Given the description of an element on the screen output the (x, y) to click on. 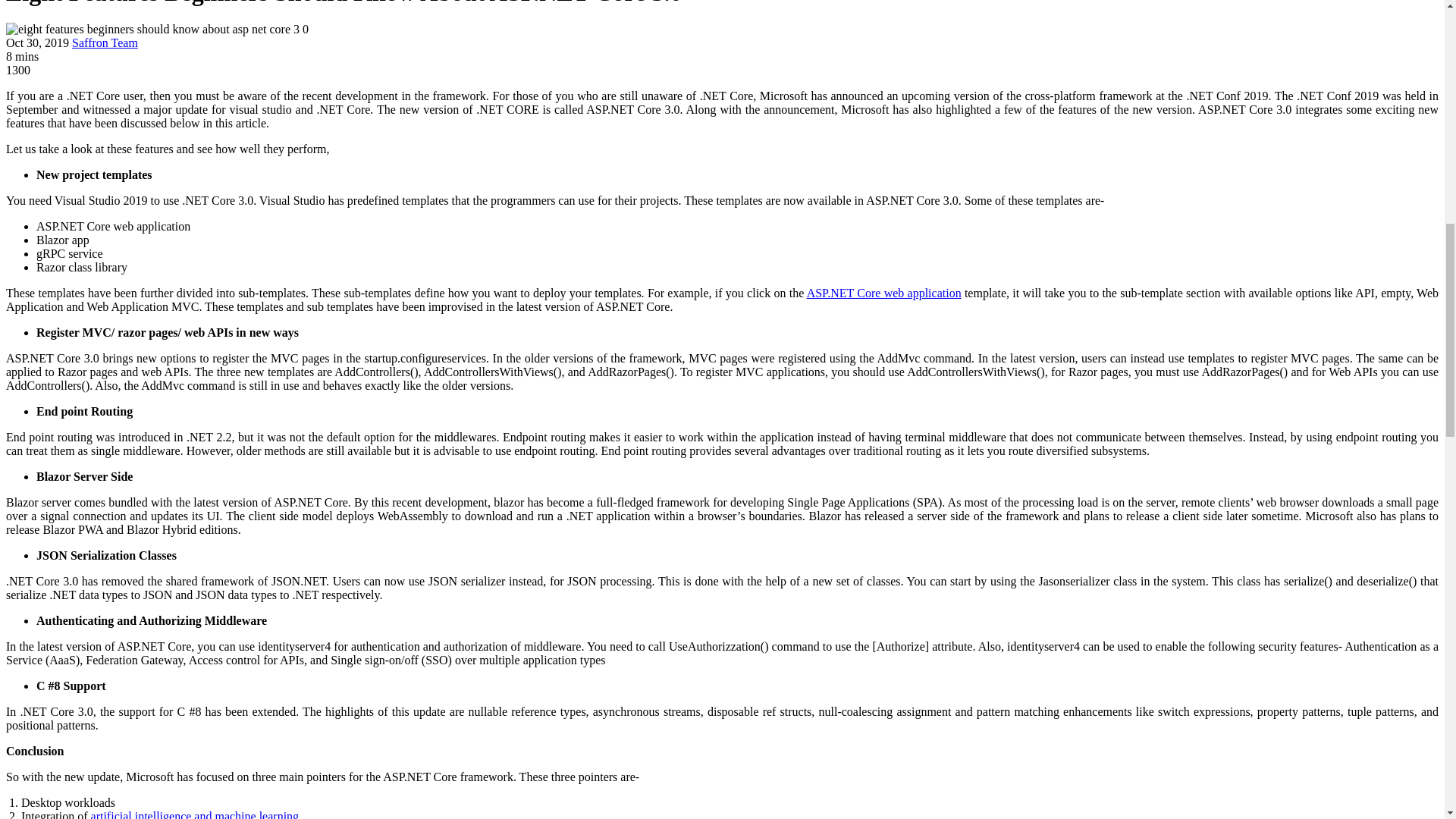
ASP.NET Core web application (883, 292)
Posts by Saffron Team (104, 42)
artificial intelligence and machine learning (194, 814)
Saffron Team (104, 42)
